Given the description of an element on the screen output the (x, y) to click on. 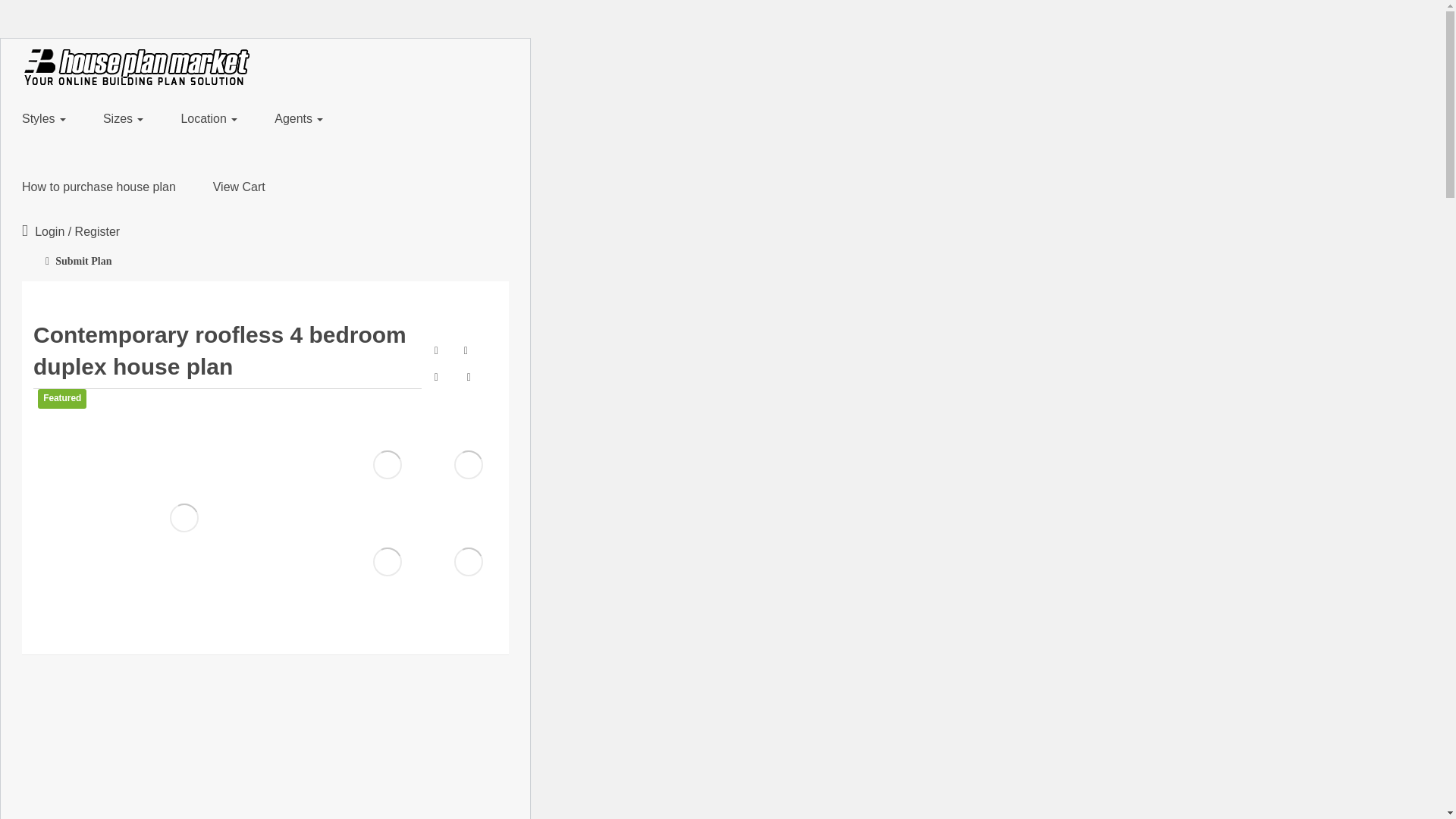
Add Compare (436, 350)
Register (97, 231)
Print (468, 376)
Add Favorite (465, 350)
Login (51, 231)
Advertisement (265, 760)
